Given the description of an element on the screen output the (x, y) to click on. 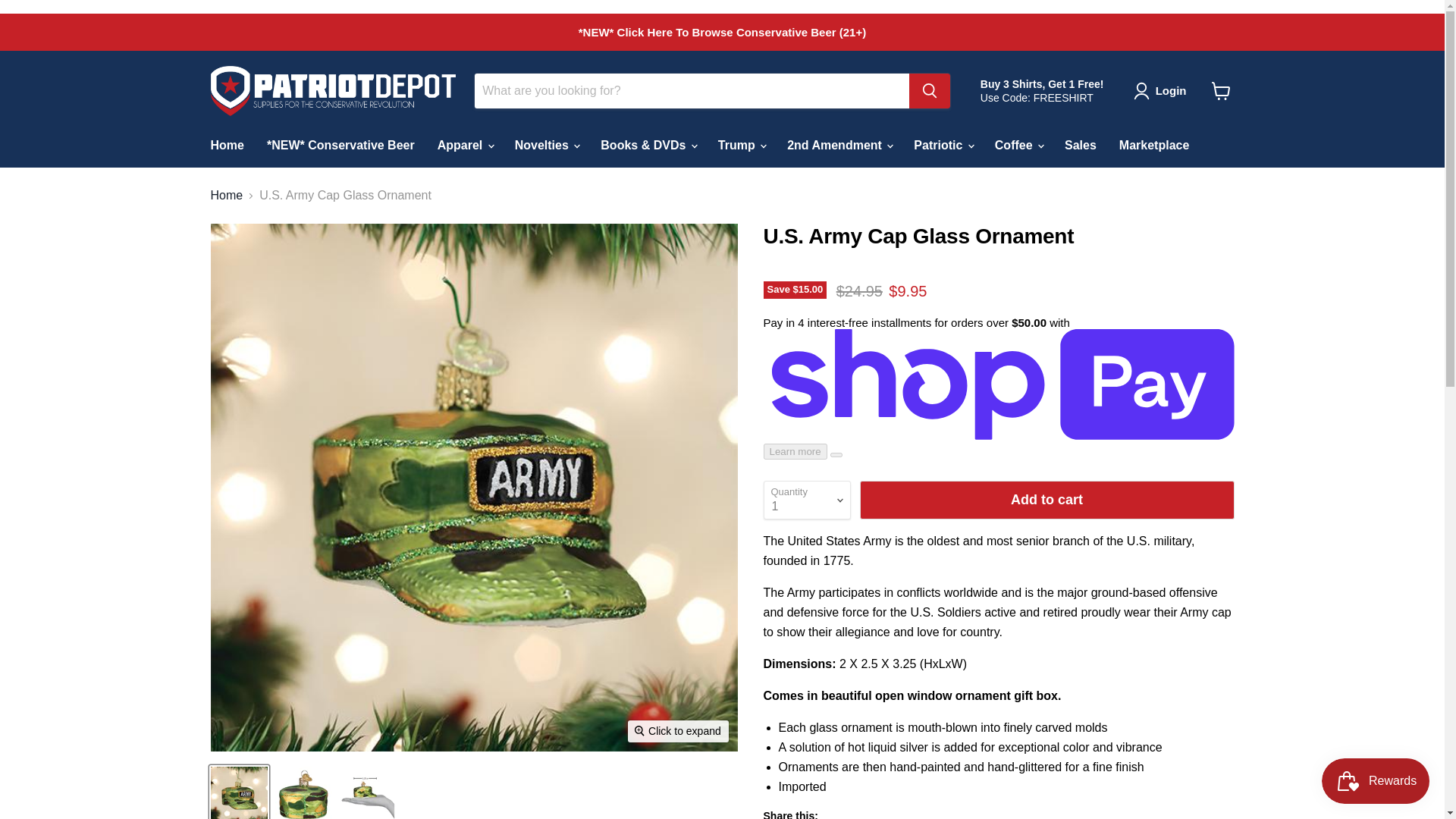
View cart (1221, 90)
Login (1171, 90)
Home (226, 145)
Smile.io Rewards Program Launcher (1375, 780)
